Given the description of an element on the screen output the (x, y) to click on. 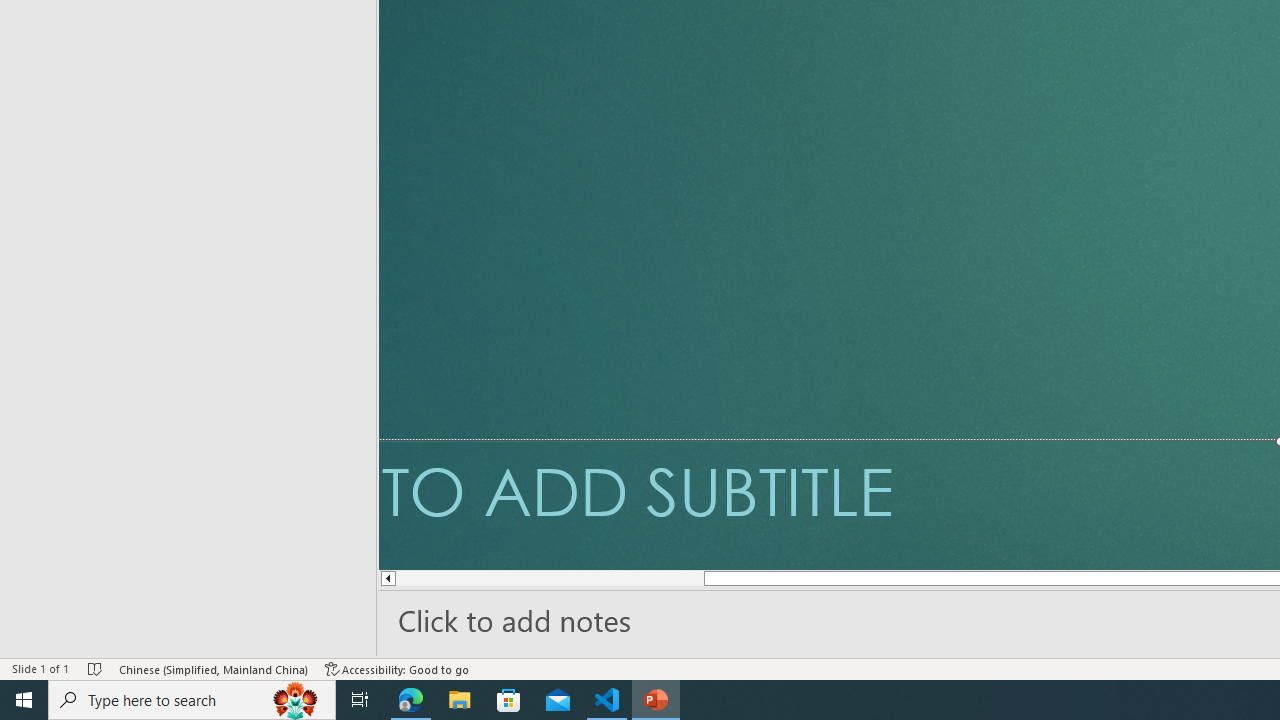
Spell Check No Errors (95, 668)
Accessibility Checker Accessibility: Good to go (397, 668)
